Given the description of an element on the screen output the (x, y) to click on. 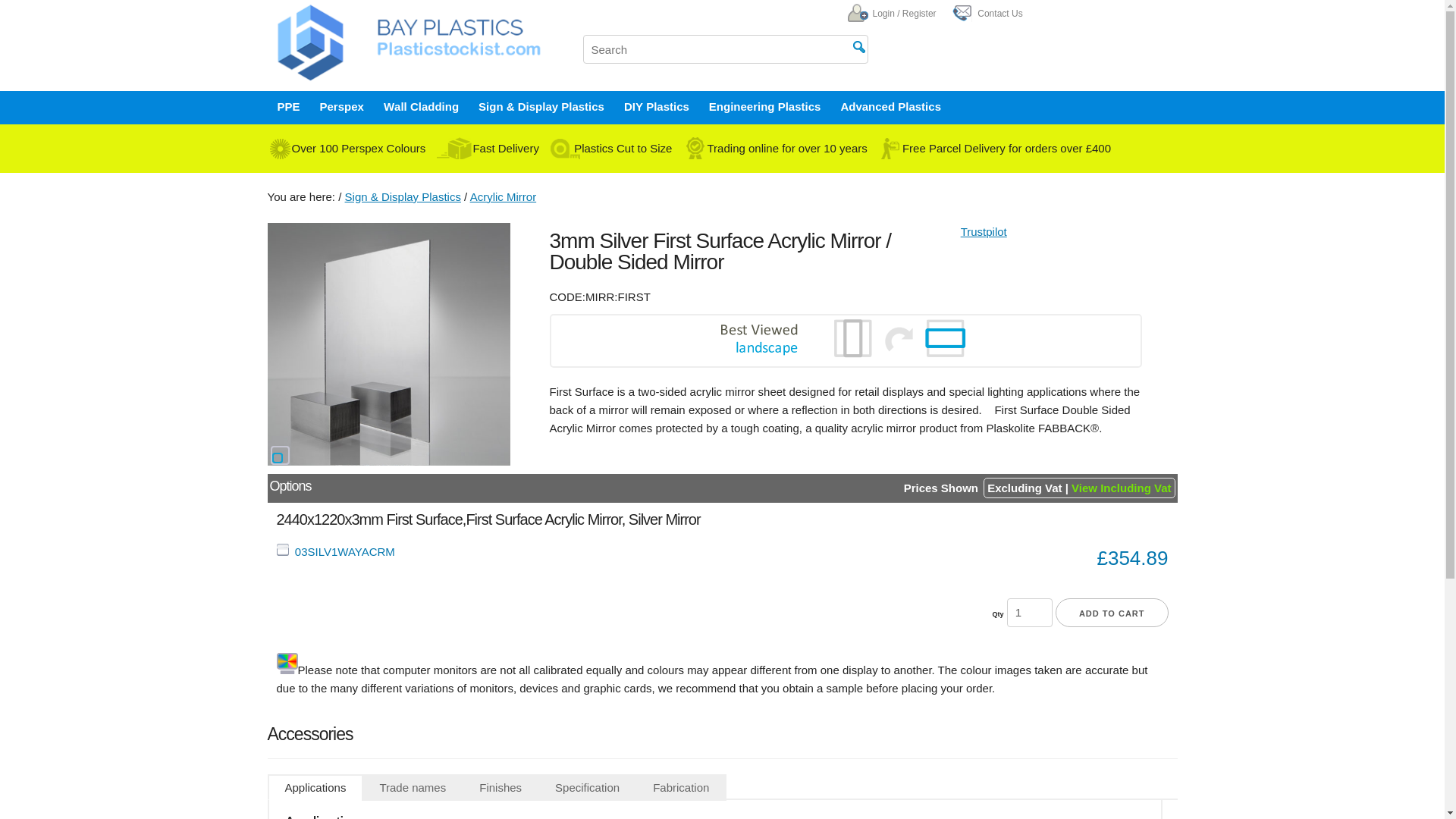
1 (1029, 612)
PPE (287, 106)
Contact Us (999, 13)
Perspex (342, 106)
Wall Cladding (421, 106)
Get in touch (956, 17)
Sign me out (858, 13)
